Given the description of an element on the screen output the (x, y) to click on. 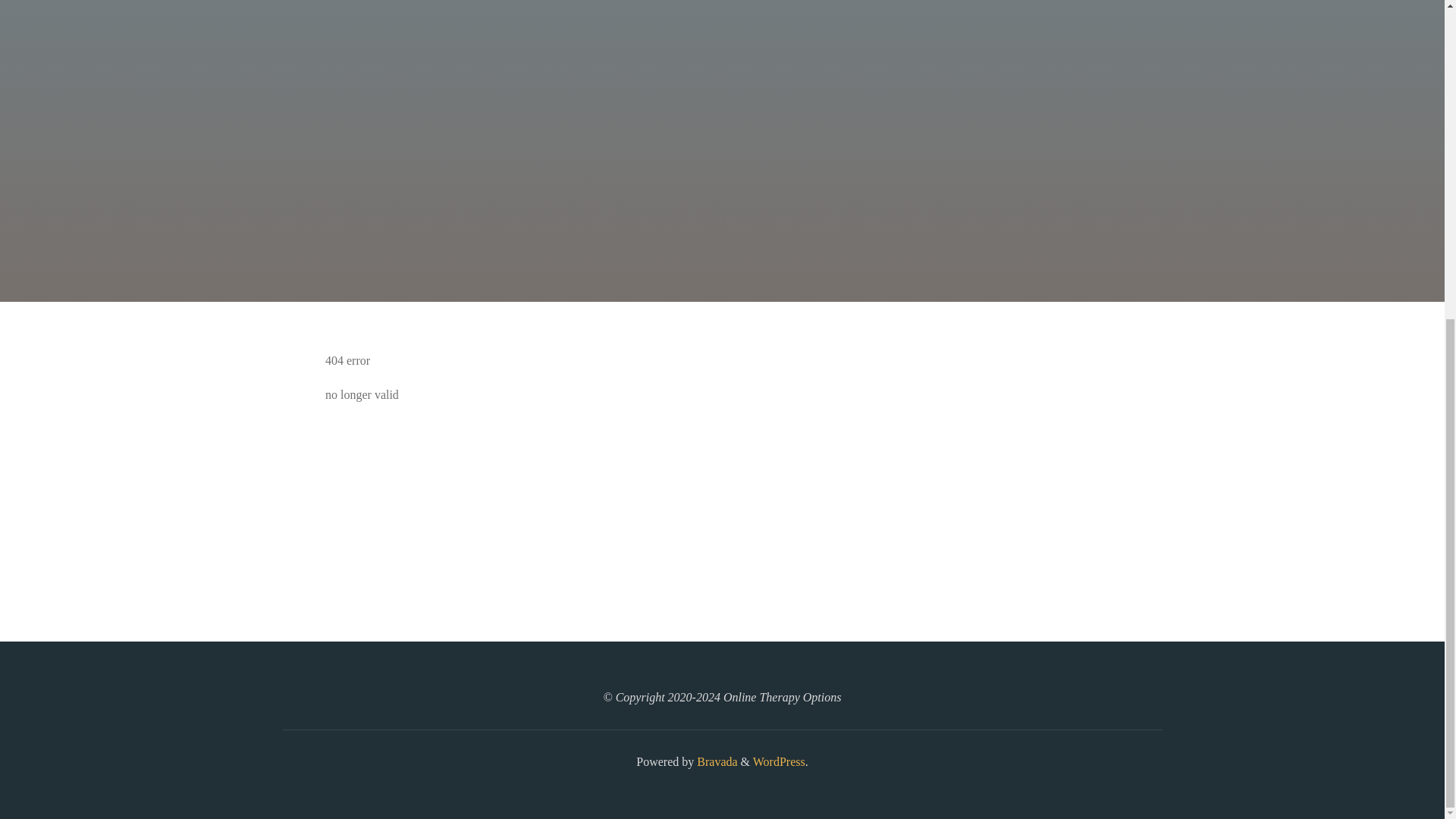
Read more (721, 207)
Semantic Personal Publishing Platform (778, 761)
WordPress (778, 761)
Bravada WordPress Theme by Cryout Creations (715, 761)
Bravada (715, 761)
